Given the description of an element on the screen output the (x, y) to click on. 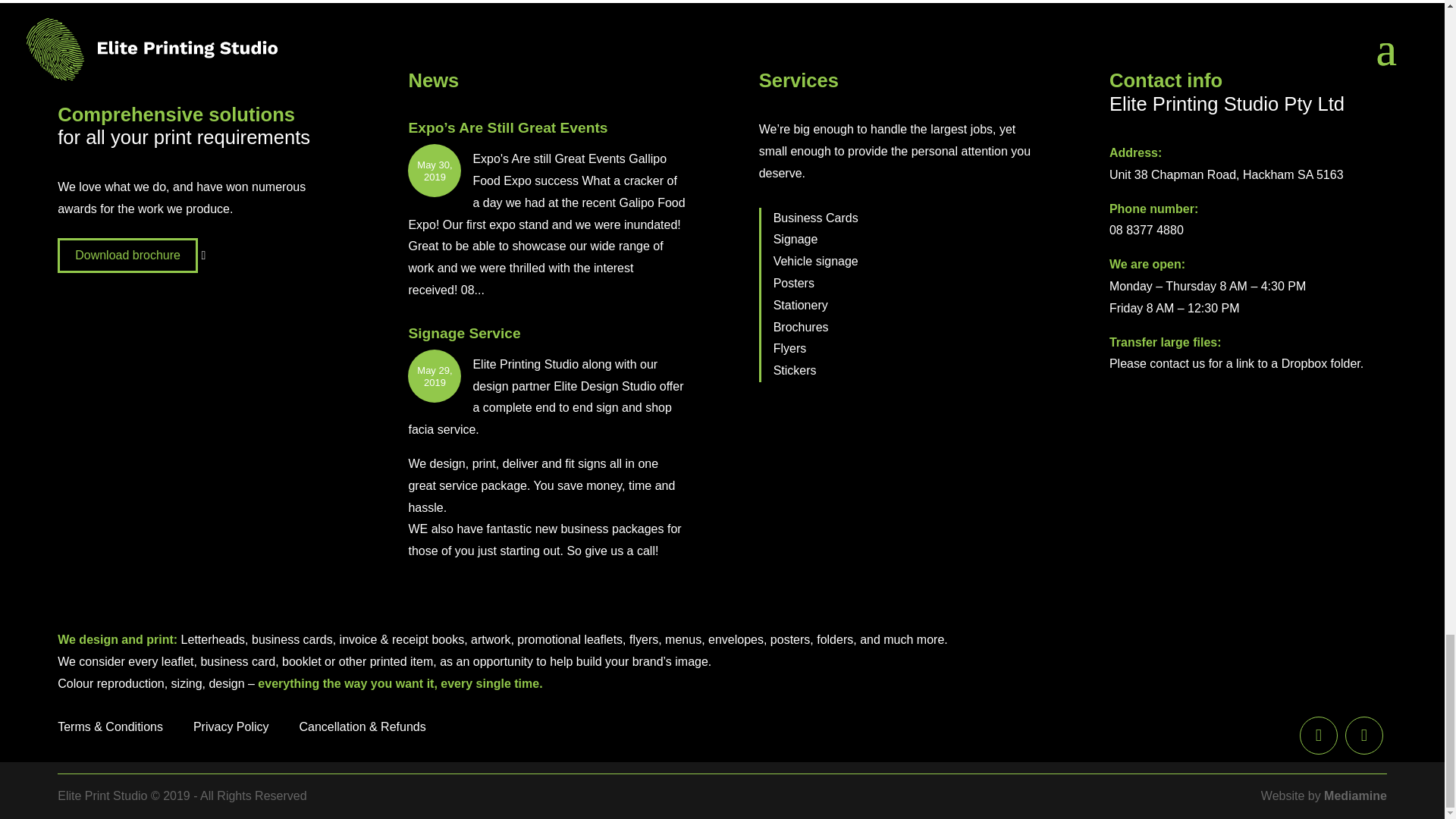
Stickers (794, 369)
Business Cards (816, 217)
Privacy Policy (231, 727)
Brochures (800, 327)
Signage Service (463, 333)
Stationery (800, 305)
Posters (793, 282)
Signage (795, 238)
08 8377 4880 (1146, 229)
Vehicle signage (816, 260)
